Given the description of an element on the screen output the (x, y) to click on. 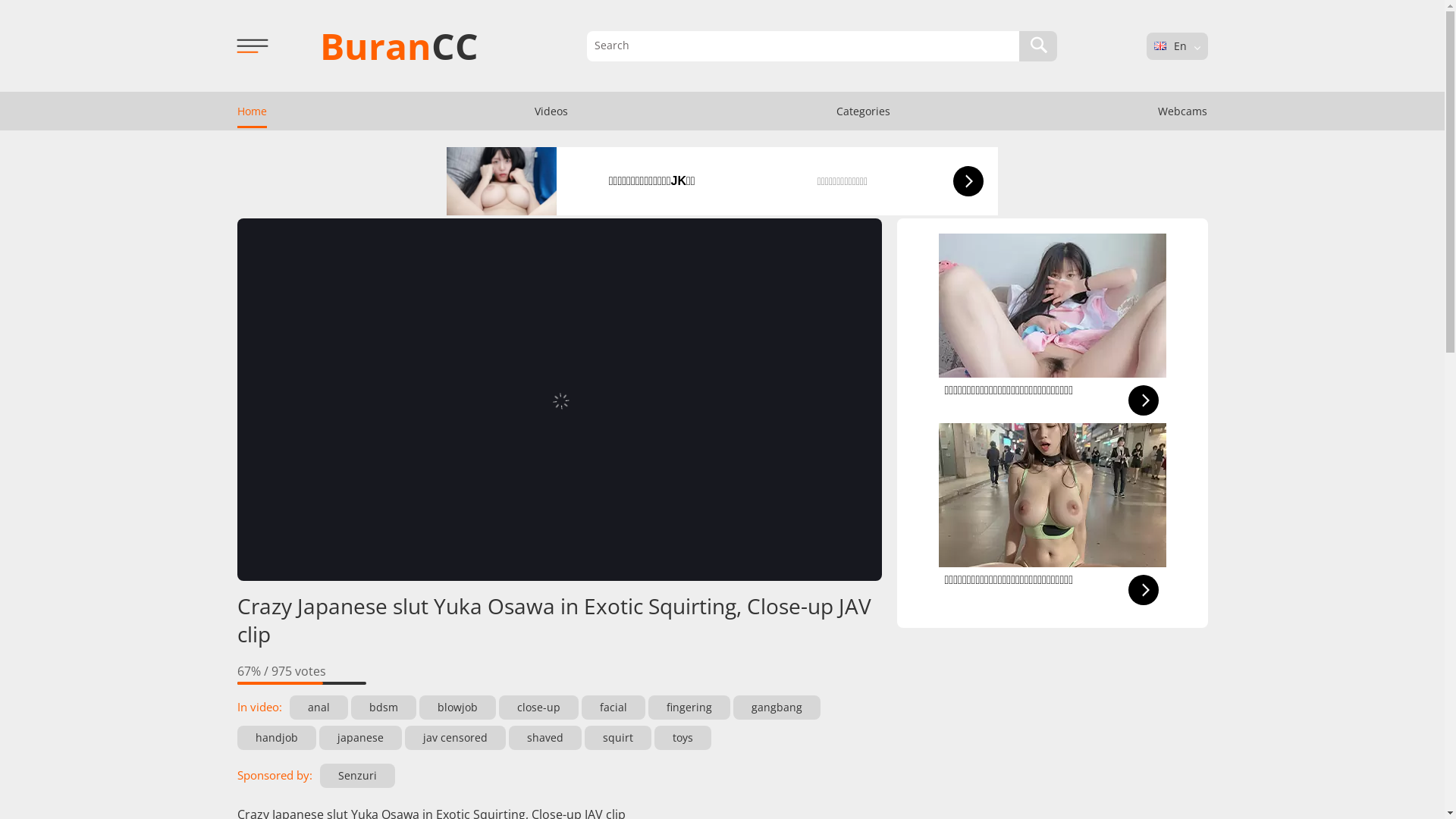
toys Element type: text (681, 737)
Videos Element type: text (550, 111)
bdsm Element type: text (382, 707)
squirt Element type: text (616, 737)
japanese Element type: text (359, 737)
Home Element type: text (250, 111)
anal Element type: text (318, 707)
Categories Element type: text (862, 111)
facial Element type: text (612, 707)
En Element type: hover (1160, 45)
shaved Element type: text (544, 737)
Senzuri Element type: text (357, 775)
handjob Element type: text (275, 737)
BuranCC Element type: text (399, 45)
blowjob Element type: text (456, 707)
jav censored Element type: text (454, 737)
Webcams Element type: text (1182, 111)
gangbang Element type: text (775, 707)
close-up Element type: text (538, 707)
fingering Element type: text (688, 707)
